Given the description of an element on the screen output the (x, y) to click on. 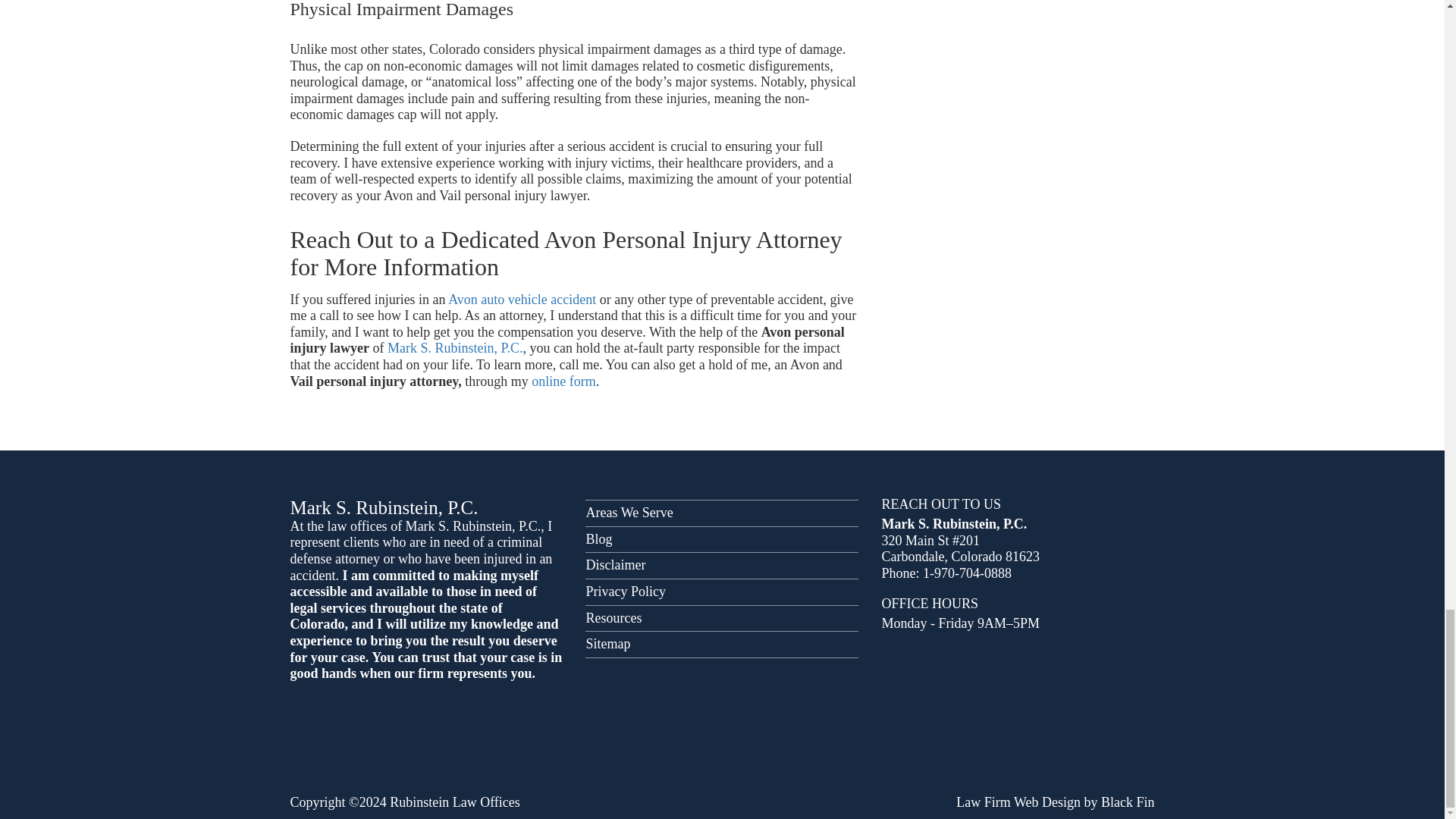
Sitemap (722, 644)
Blog (722, 539)
Privacy Policy (722, 591)
Black Fin (1127, 801)
Resources (722, 618)
Avon auto vehicle accident (521, 299)
Disclaimer (722, 565)
Mark S. Rubinstein, P.C. (454, 347)
online form (563, 381)
Areas We Serve (722, 513)
